Given the description of an element on the screen output the (x, y) to click on. 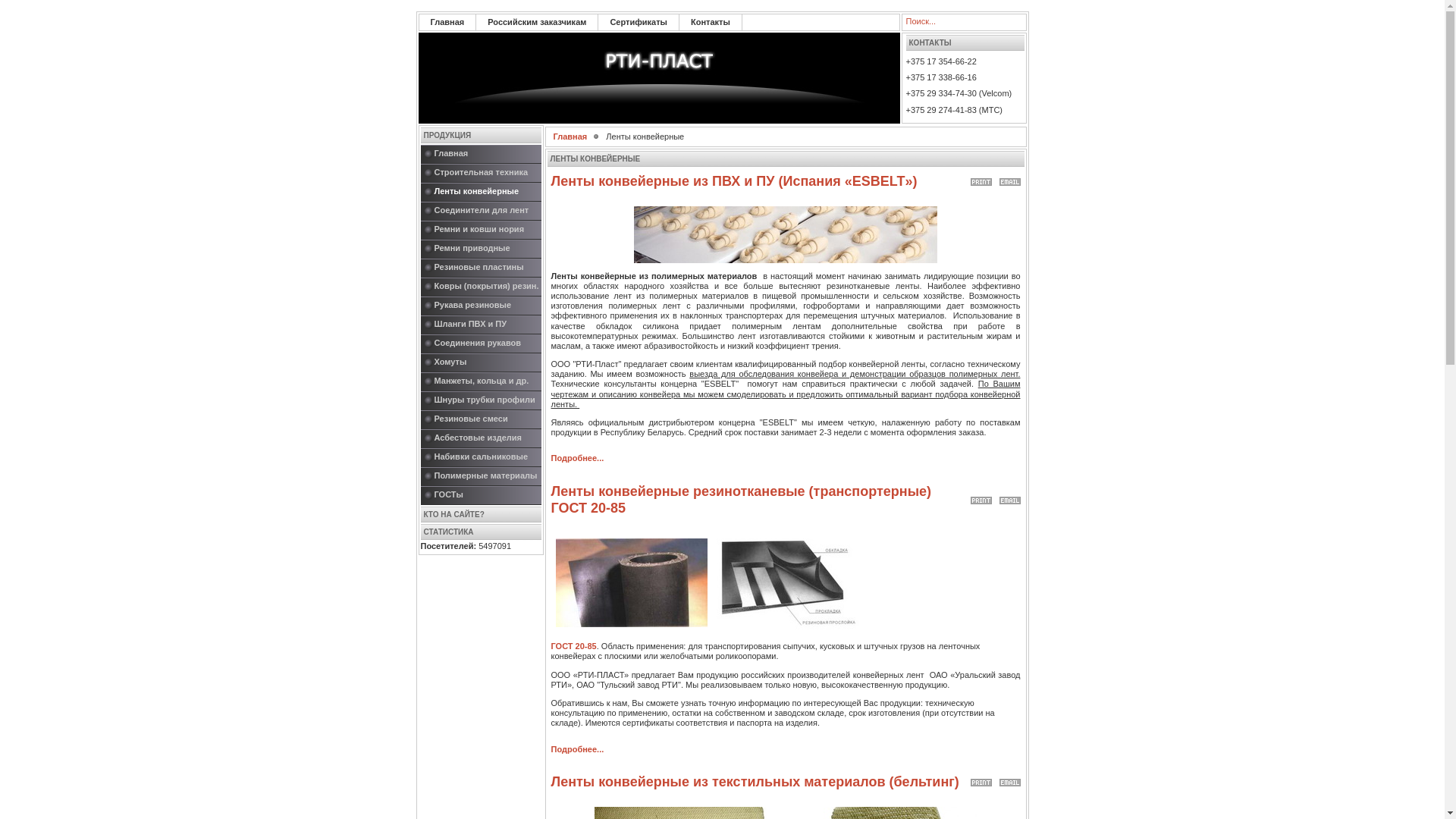
E-mail Element type: hover (1009, 497)
E-mail Element type: hover (1009, 779)
Image Element type: hover (630, 582)
Image Element type: hover (785, 234)
Image Element type: hover (791, 582)
E-mail Element type: hover (1009, 178)
